Given the description of an element on the screen output the (x, y) to click on. 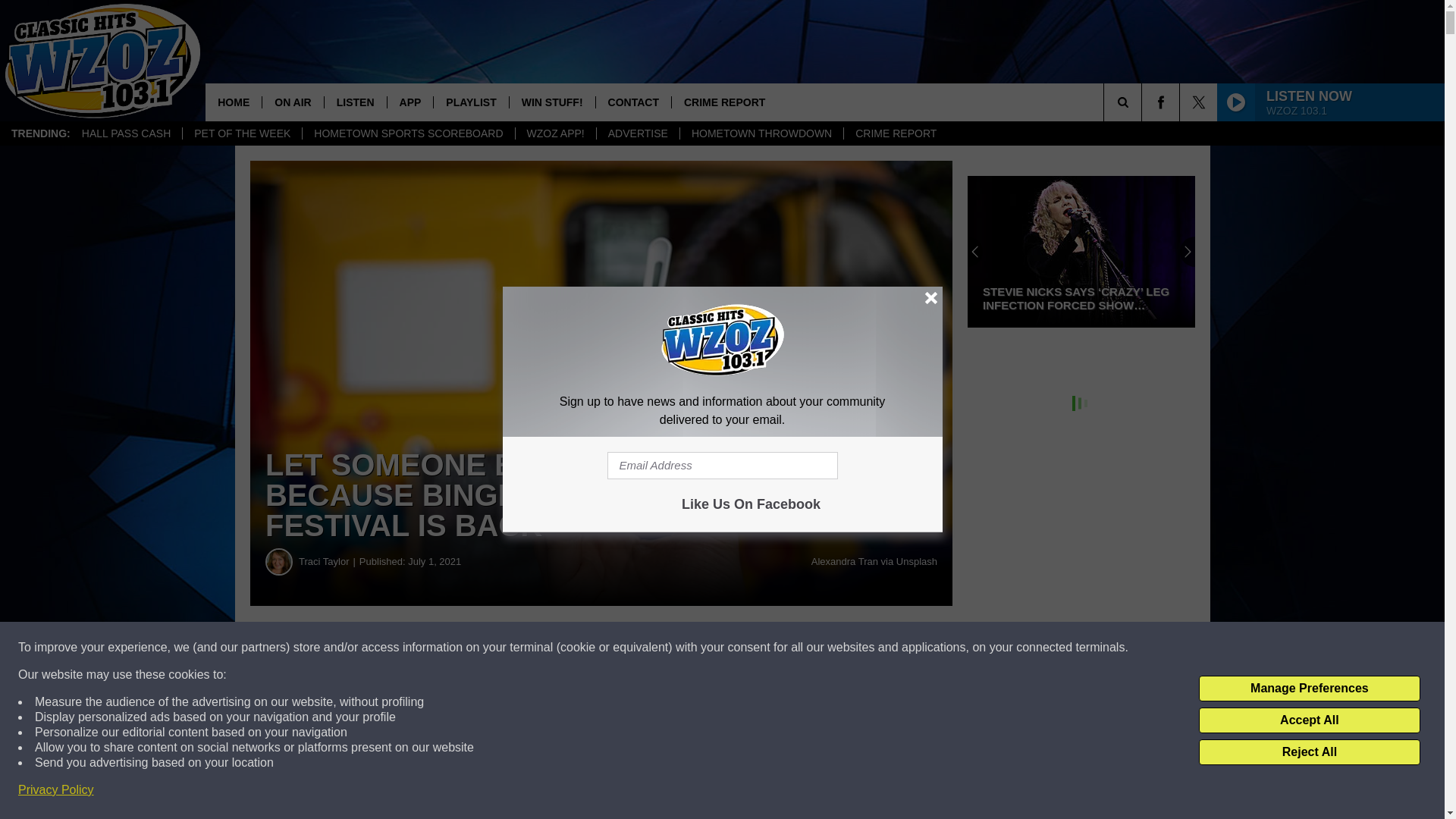
CRIME REPORT (895, 133)
Privacy Policy (55, 789)
WZOZ APP! (555, 133)
CONTACT (633, 102)
LISTEN (355, 102)
HOMETOWN THROWDOWN (761, 133)
APP (410, 102)
WIN STUFF! (551, 102)
Share on Twitter (741, 647)
ON AIR (292, 102)
Email Address (722, 465)
Share on Facebook (460, 647)
HOME (233, 102)
SEARCH (1144, 102)
Accept All (1309, 720)
